Given the description of an element on the screen output the (x, y) to click on. 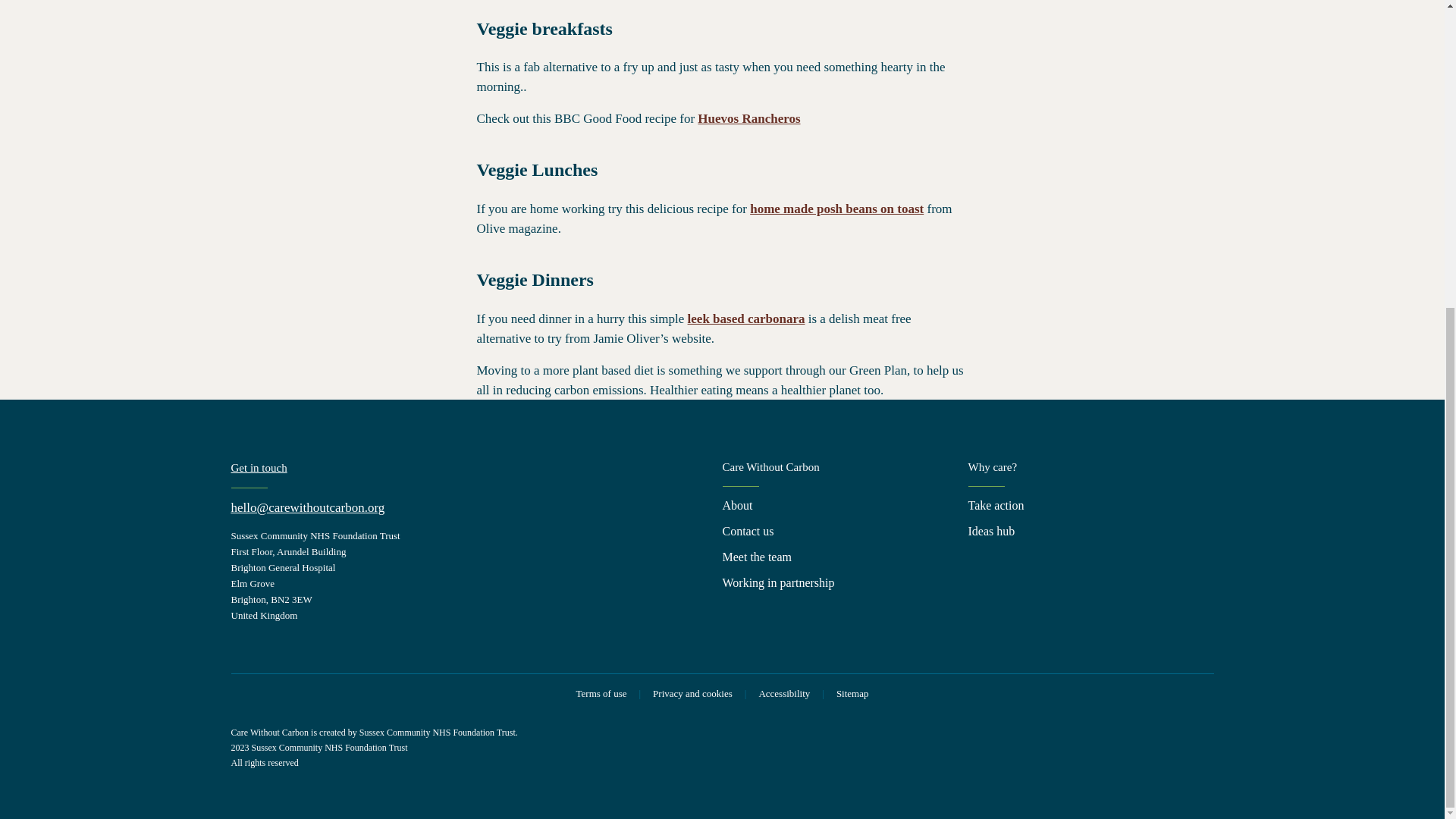
leek based carbonara (746, 318)
Get in touch (258, 467)
About (737, 504)
Contact us (747, 530)
home made posh beans on toast (836, 208)
Care Without Carbon (845, 473)
Huevos Rancheros (748, 118)
